Given the description of an element on the screen output the (x, y) to click on. 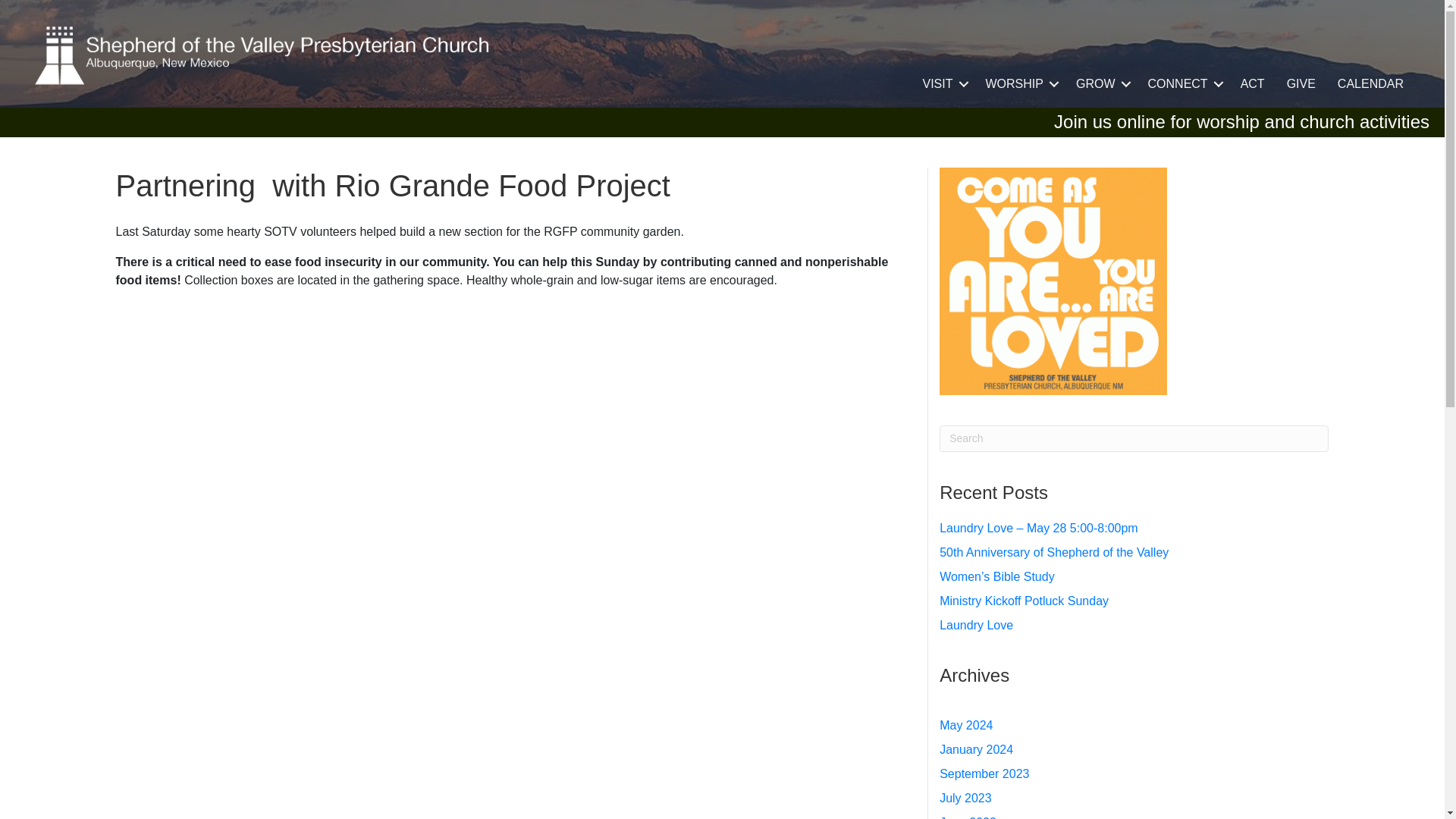
May 2024 (965, 725)
Ministry Kickoff Potluck Sunday (1023, 600)
CALENDAR (1369, 84)
GROW (1101, 84)
CONNECT (1182, 84)
Laundry Love (976, 625)
July 2023 (965, 797)
Join us online for worship and church activities (1241, 121)
50th Anniversary of Shepherd of the Valley (1054, 552)
Type and press Enter to search. (1133, 438)
WORSHIP (1019, 84)
June 2023 (967, 817)
September 2023 (984, 773)
VISIT (942, 84)
GIVE (1301, 84)
